Given the description of an element on the screen output the (x, y) to click on. 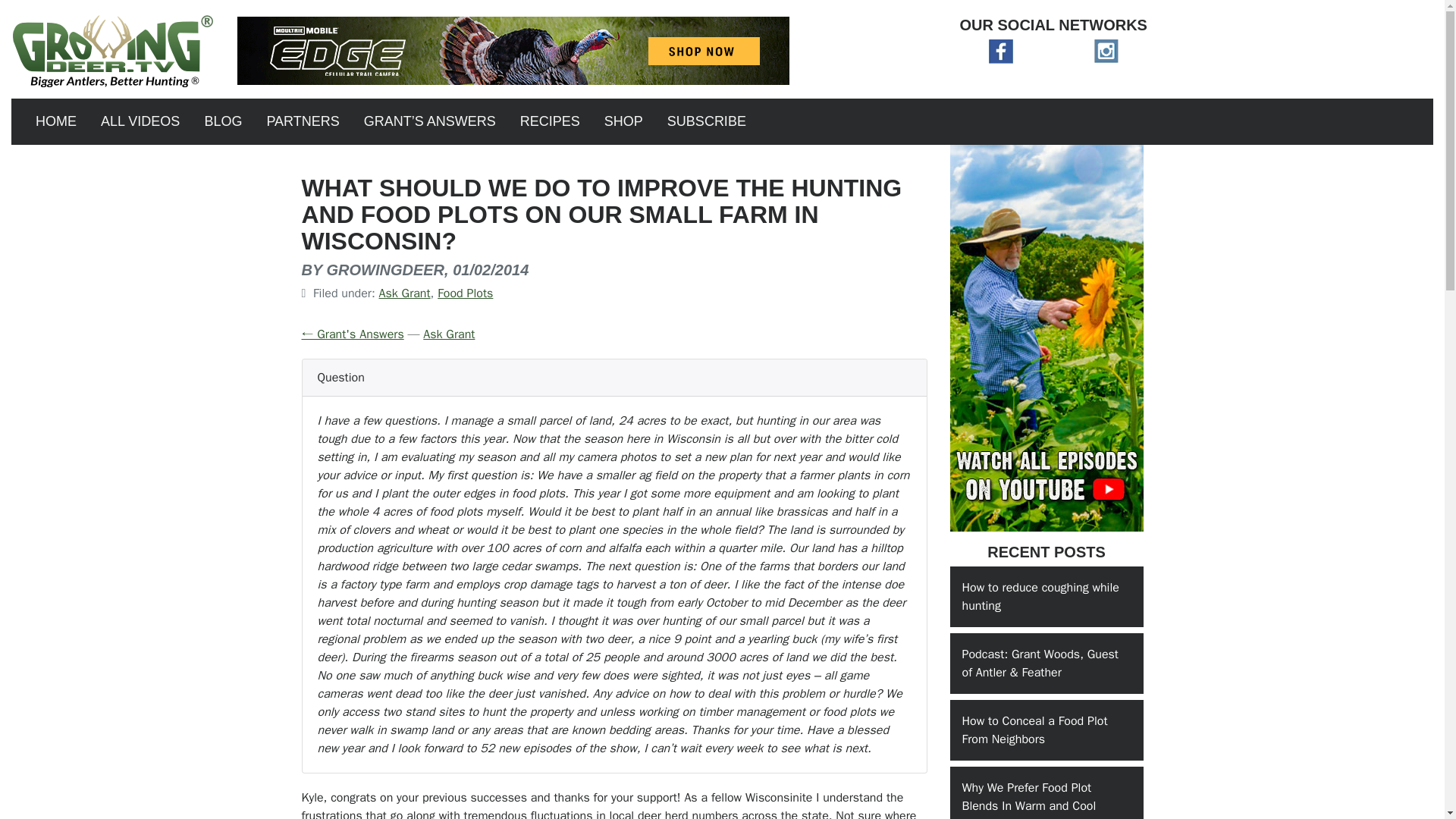
ALL VIDEOS (140, 121)
SHOP (623, 121)
BLOG (222, 121)
Food Plots (465, 293)
HOME (55, 121)
SUBSCRIBE (706, 121)
Ask Grant (404, 293)
How to reduce coughing while hunting (1045, 596)
RECIPES (550, 121)
Ask Grant (448, 334)
PARTNERS (301, 121)
How to Conceal a Food Plot From Neighbors (1045, 730)
